Given the description of an element on the screen output the (x, y) to click on. 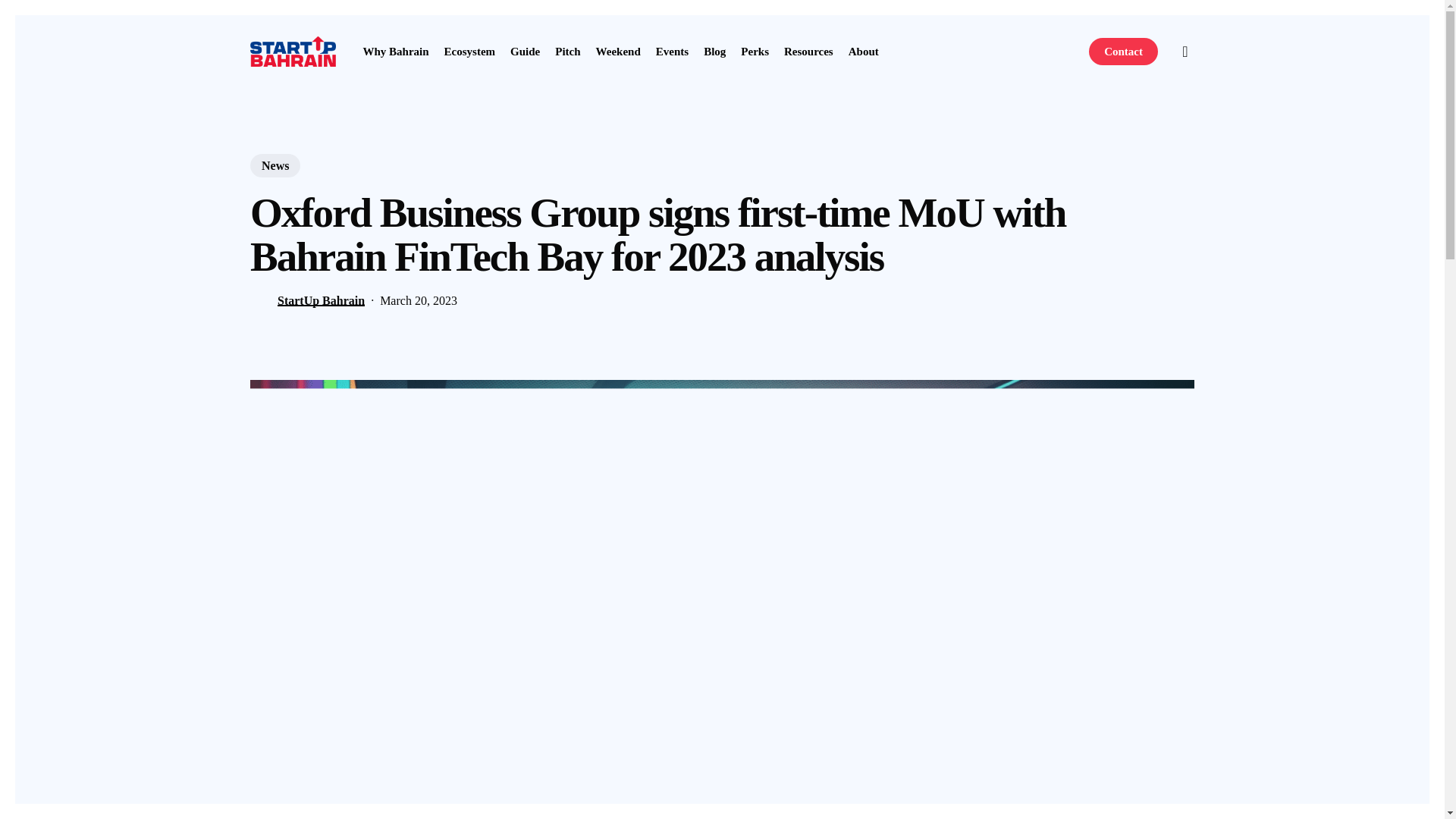
News (274, 165)
Perks (754, 50)
Weekend (617, 50)
Blog (714, 50)
Pitch (567, 50)
Why Bahrain (395, 50)
StartUp Bahrain (321, 300)
Contact (1123, 50)
Resources (808, 50)
Events (671, 50)
Posts by StartUp Bahrain (321, 300)
Ecosystem (469, 50)
search (1184, 51)
Guide (524, 50)
About (863, 50)
